Given the description of an element on the screen output the (x, y) to click on. 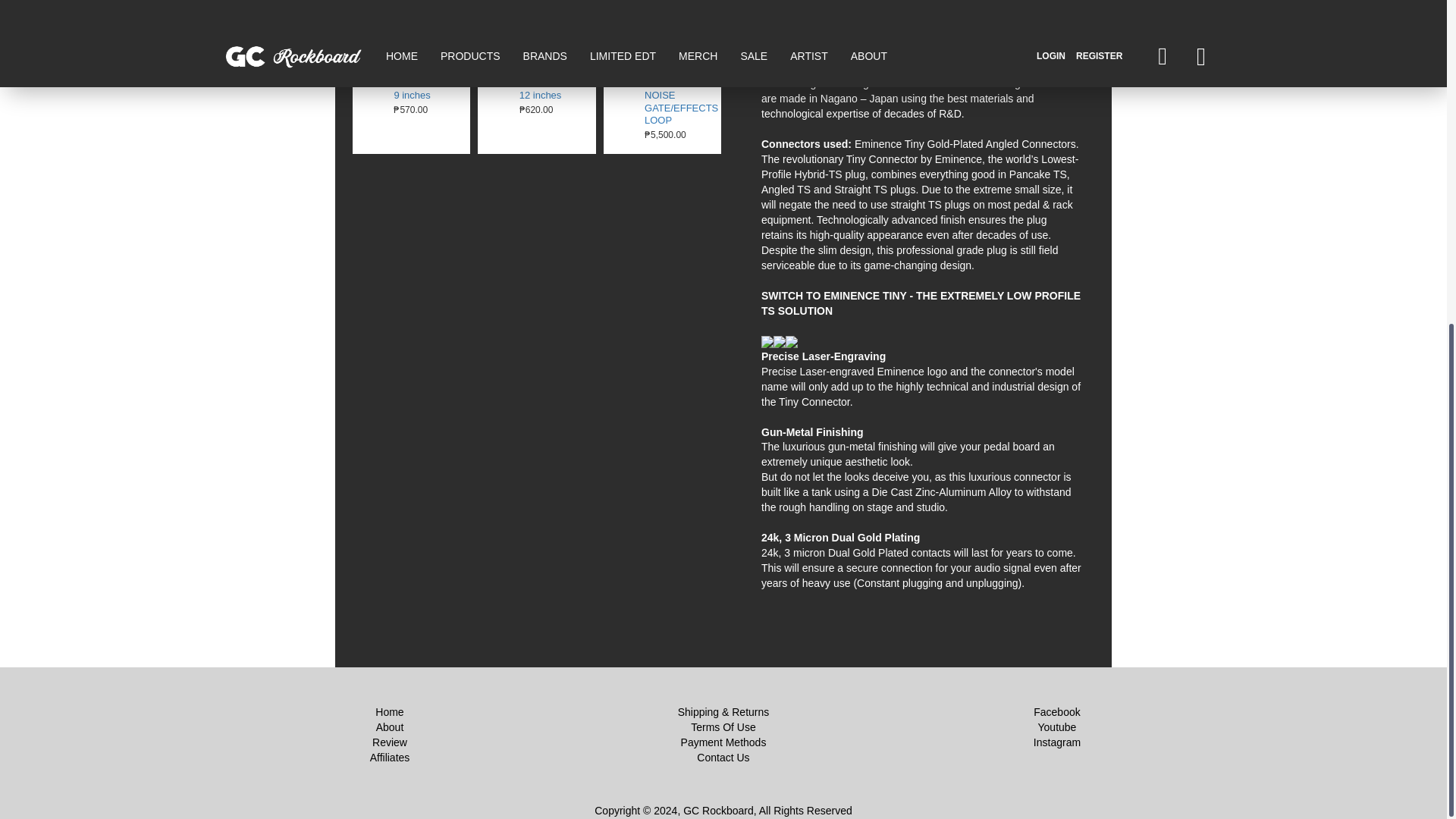
Eminence Tiny With Mogami Patch Cables - 9 inches (374, 65)
